Given the description of an element on the screen output the (x, y) to click on. 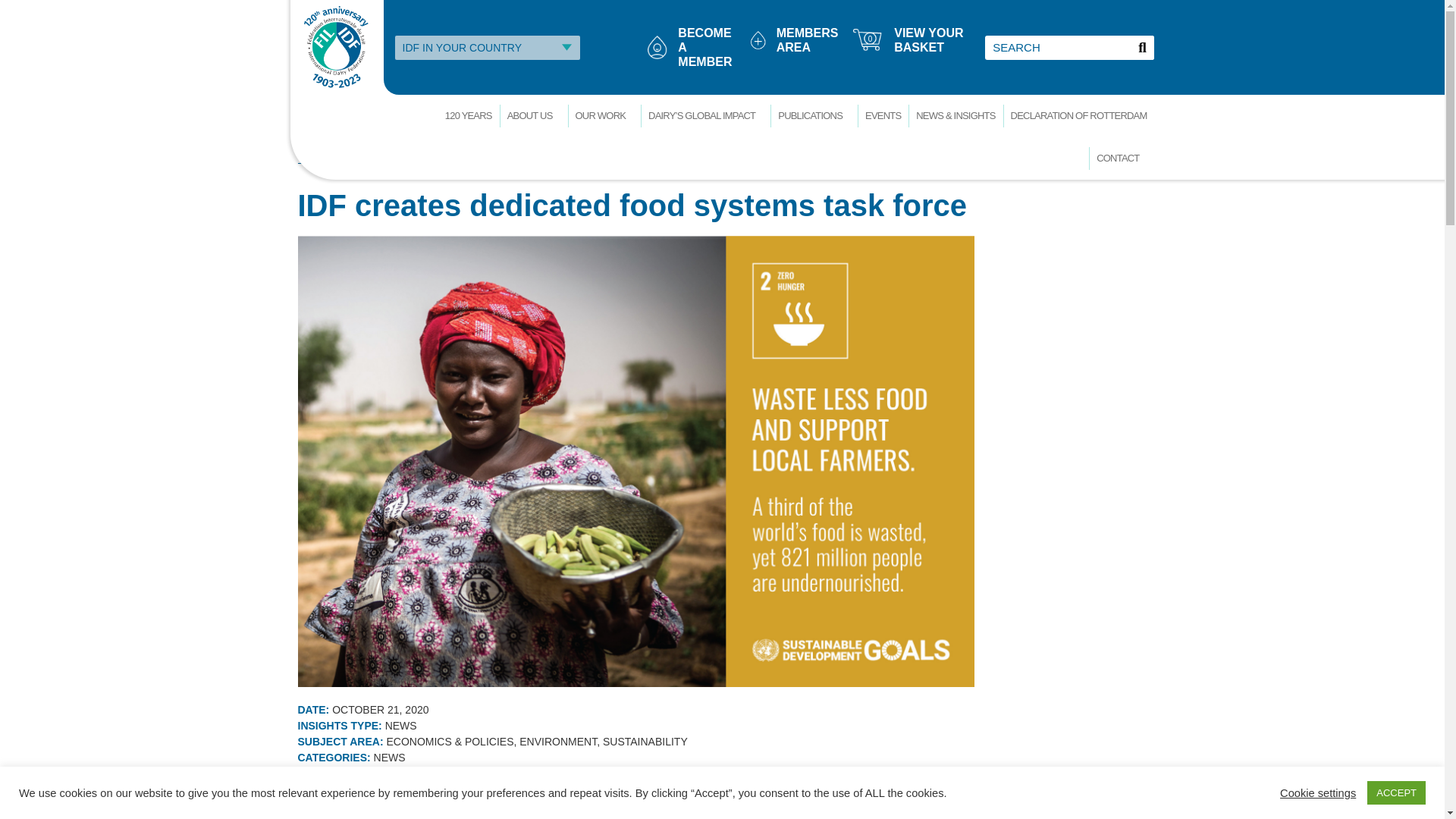
VIEW YOUR BASKET (705, 46)
MEMBERS AREA (927, 40)
OUR WORK (807, 40)
PUBLICATIONS (604, 116)
120 YEARS (813, 116)
Go to Home. (468, 116)
ABOUT US (313, 128)
